Given the description of an element on the screen output the (x, y) to click on. 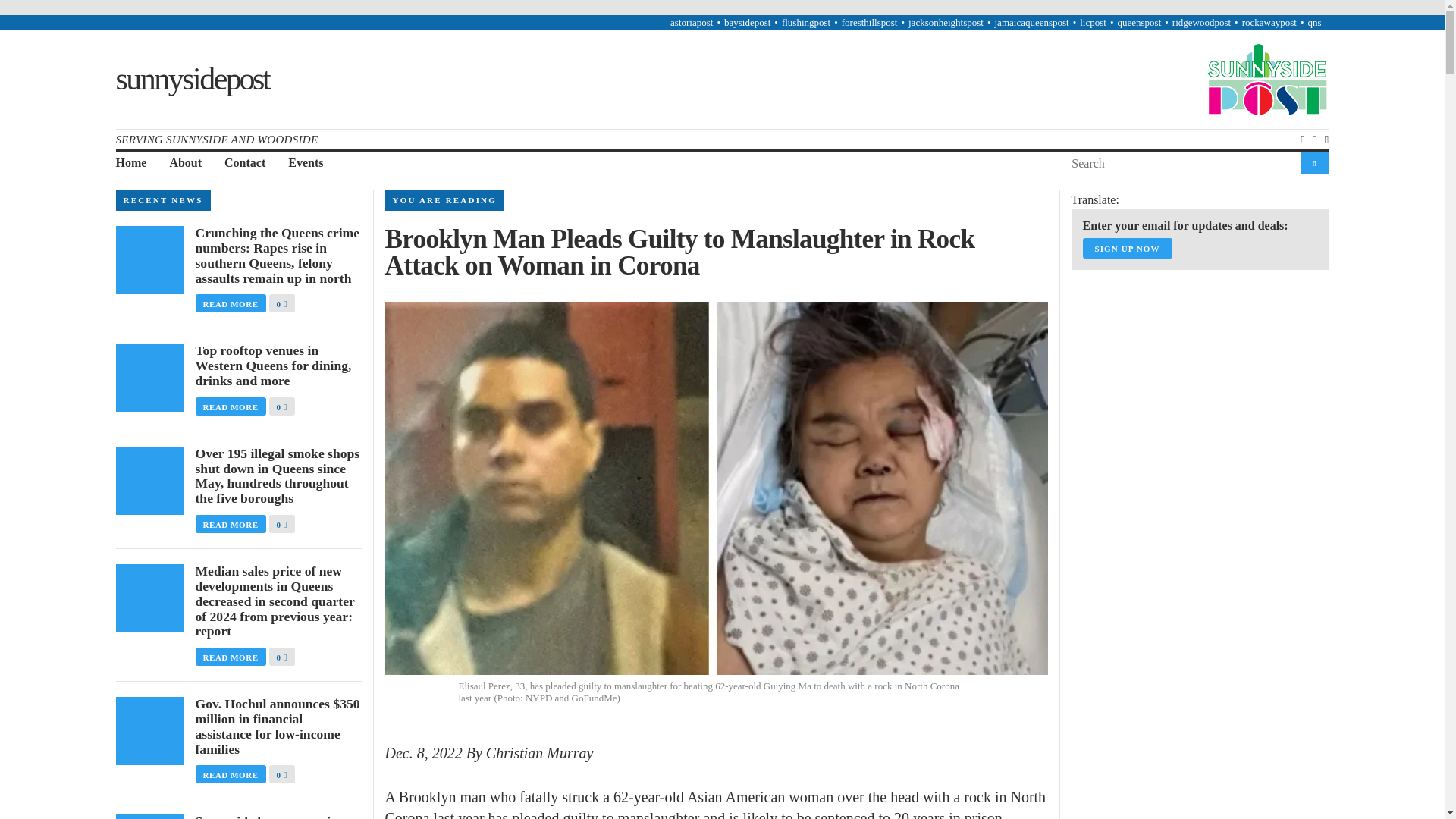
jacksonheightspost (946, 21)
qns (1313, 21)
Contact (244, 163)
baysidepost (746, 21)
rockawaypost (1269, 21)
Home (131, 163)
ridgewoodpost (1201, 21)
flushingpost (805, 21)
sunnysidepost (191, 78)
About (185, 163)
Events (305, 163)
licpost (1093, 21)
astoriapost (691, 21)
foresthillspost (869, 21)
jamaicaqueenspost (1031, 21)
